Given the description of an element on the screen output the (x, y) to click on. 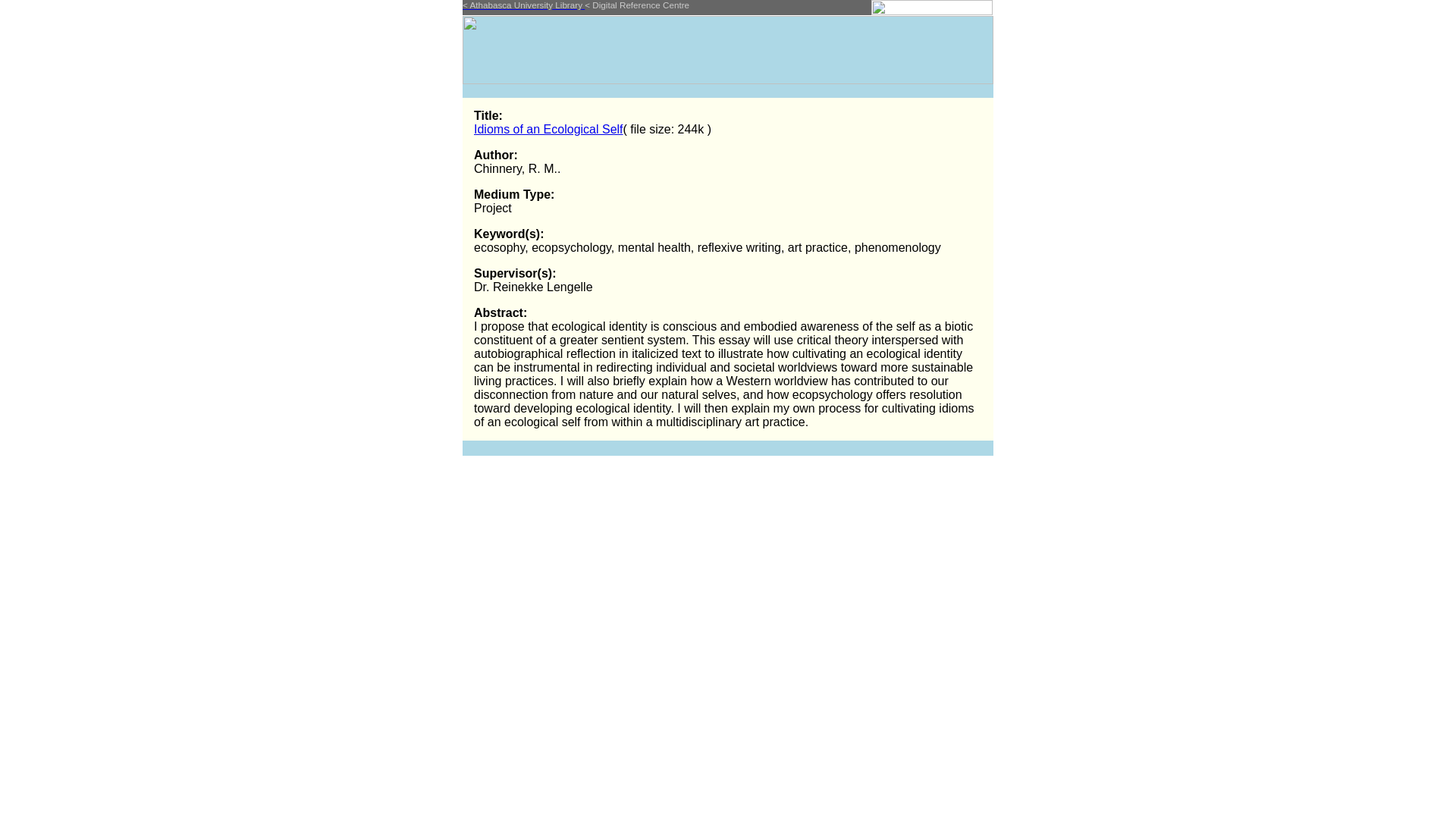
< Digital Reference Centre Element type: text (636, 4)
Idioms of an Ecological Self Element type: text (548, 128)
